Given the description of an element on the screen output the (x, y) to click on. 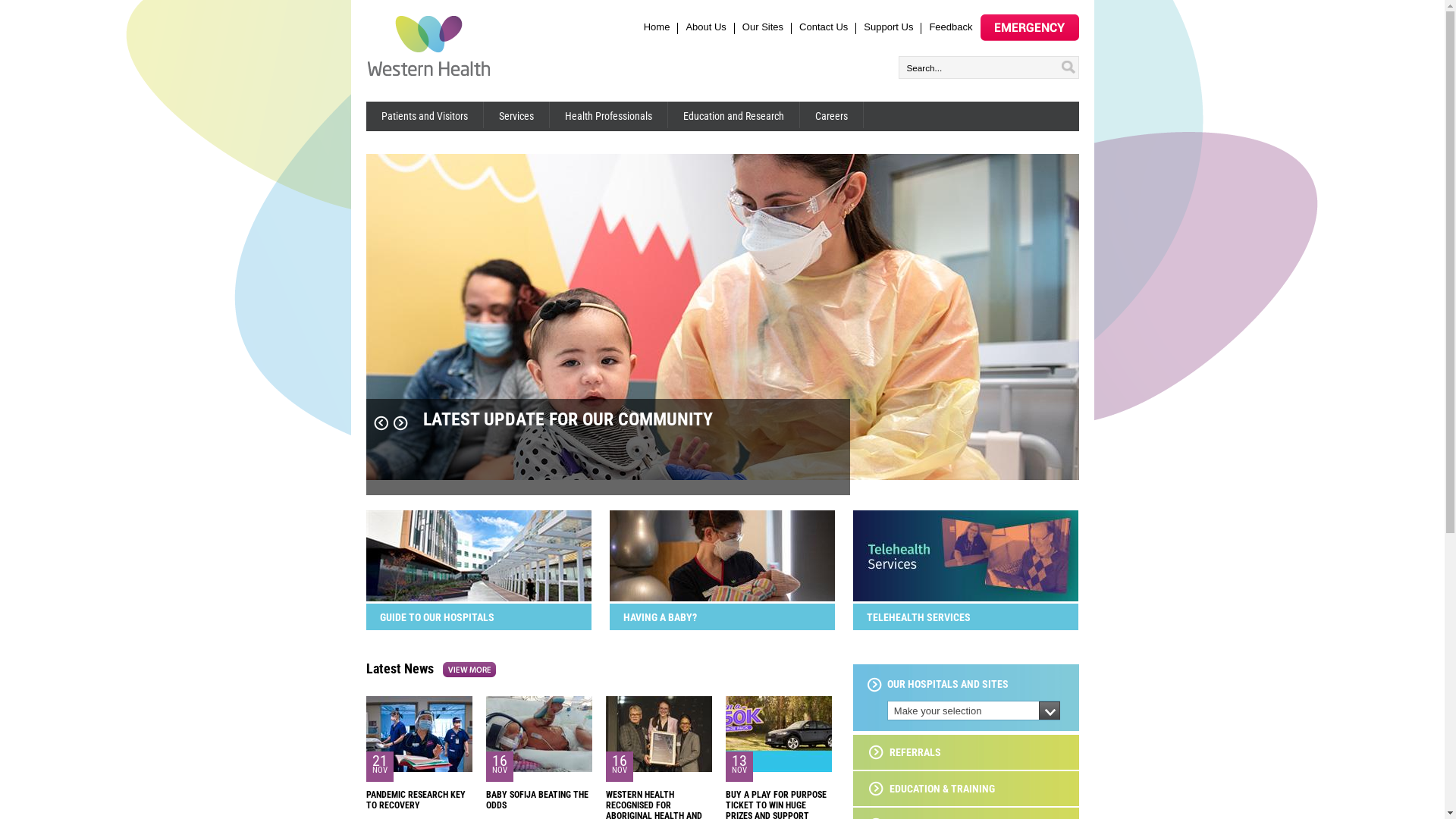
HAVING A BABY? Element type: text (721, 616)
Search Element type: hover (1069, 64)
Baby Sofija beating the odds  Element type: hover (538, 768)
About Us Element type: text (705, 26)
Health Professionals Element type: text (608, 114)
BABY SOFIJA BEATING THE ODDS Element type: text (536, 799)
HAVING A BABY? Element type: hover (721, 597)
GUIDE TO OUR HOSPITALS Element type: text (477, 616)
Education and Research Element type: text (733, 114)
Careers Element type: text (830, 114)
Search... Element type: hover (981, 67)
Our Sites Element type: text (762, 26)
PANDEMIC RESEARCH KEY TO RECOVERY Element type: text (414, 799)
Services Element type: text (516, 114)
GUIDE TO OUR HOSPITALS Element type: hover (477, 597)
TELEHEALTH SERVICES Element type: text (964, 616)
Contact Us Element type: text (823, 26)
REFERRALS Element type: text (904, 751)
Patients and Visitors Element type: text (424, 114)
Pandemic research key to recovery Element type: hover (418, 768)
Previous Element type: text (380, 422)
LATEST UPDATE FOR OUR COMMUNITY Element type: text (607, 457)
TELEHEALTH SERVICES Element type: hover (964, 597)
Next Element type: text (399, 422)
EDUCATION & TRAINING Element type: text (931, 788)
Home Element type: text (656, 26)
Support Us Element type: text (888, 26)
Latest update for our community Element type: hover (721, 476)
Feedback Element type: text (950, 26)
